Given the description of an element on the screen output the (x, y) to click on. 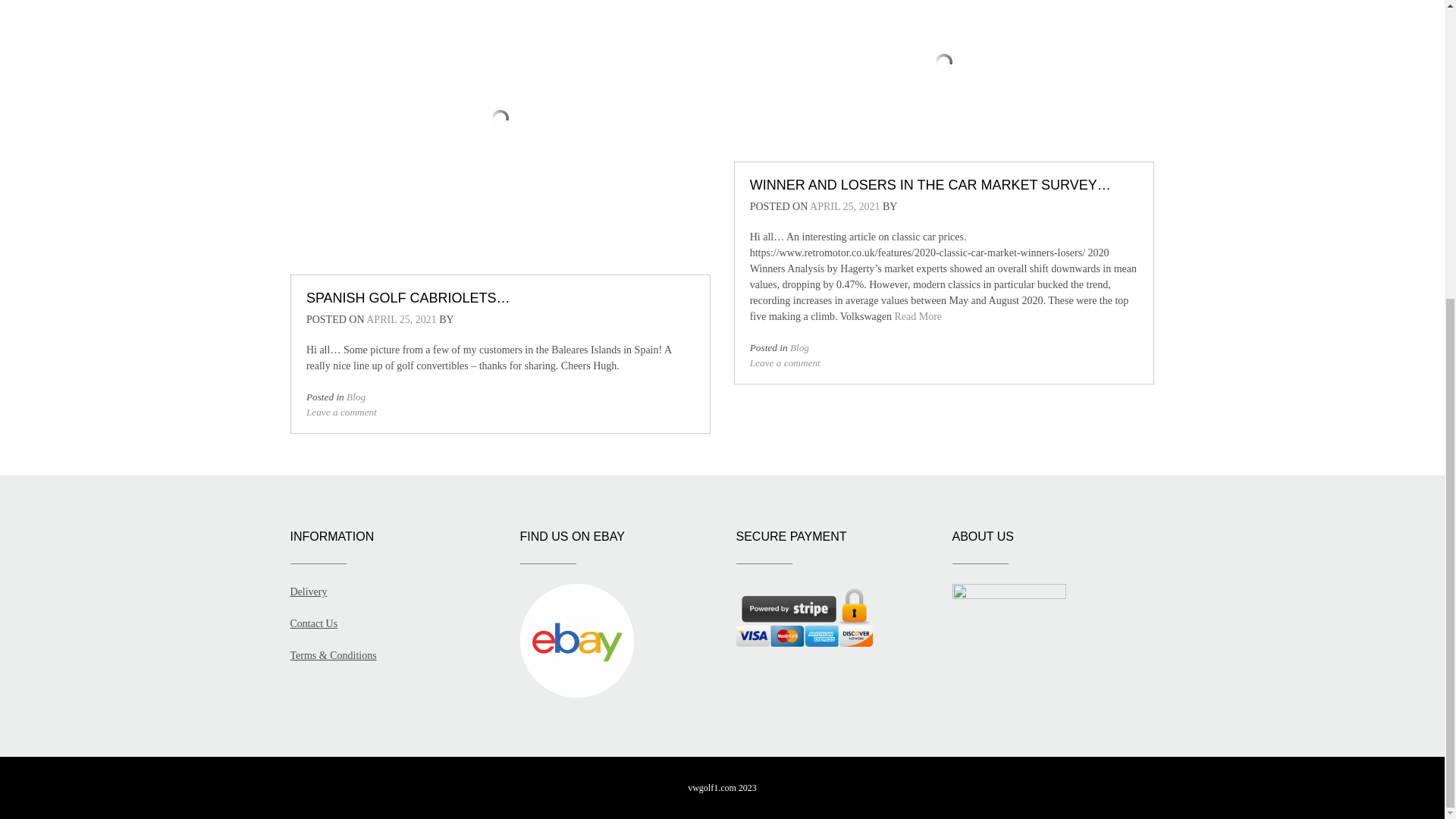
APRIL 25, 2021 (844, 206)
Read More (917, 316)
Leave a comment (785, 362)
APRIL 25, 2021 (400, 319)
Leave a comment (341, 411)
Read More (917, 316)
Blog (799, 347)
Blog (355, 396)
